Given the description of an element on the screen output the (x, y) to click on. 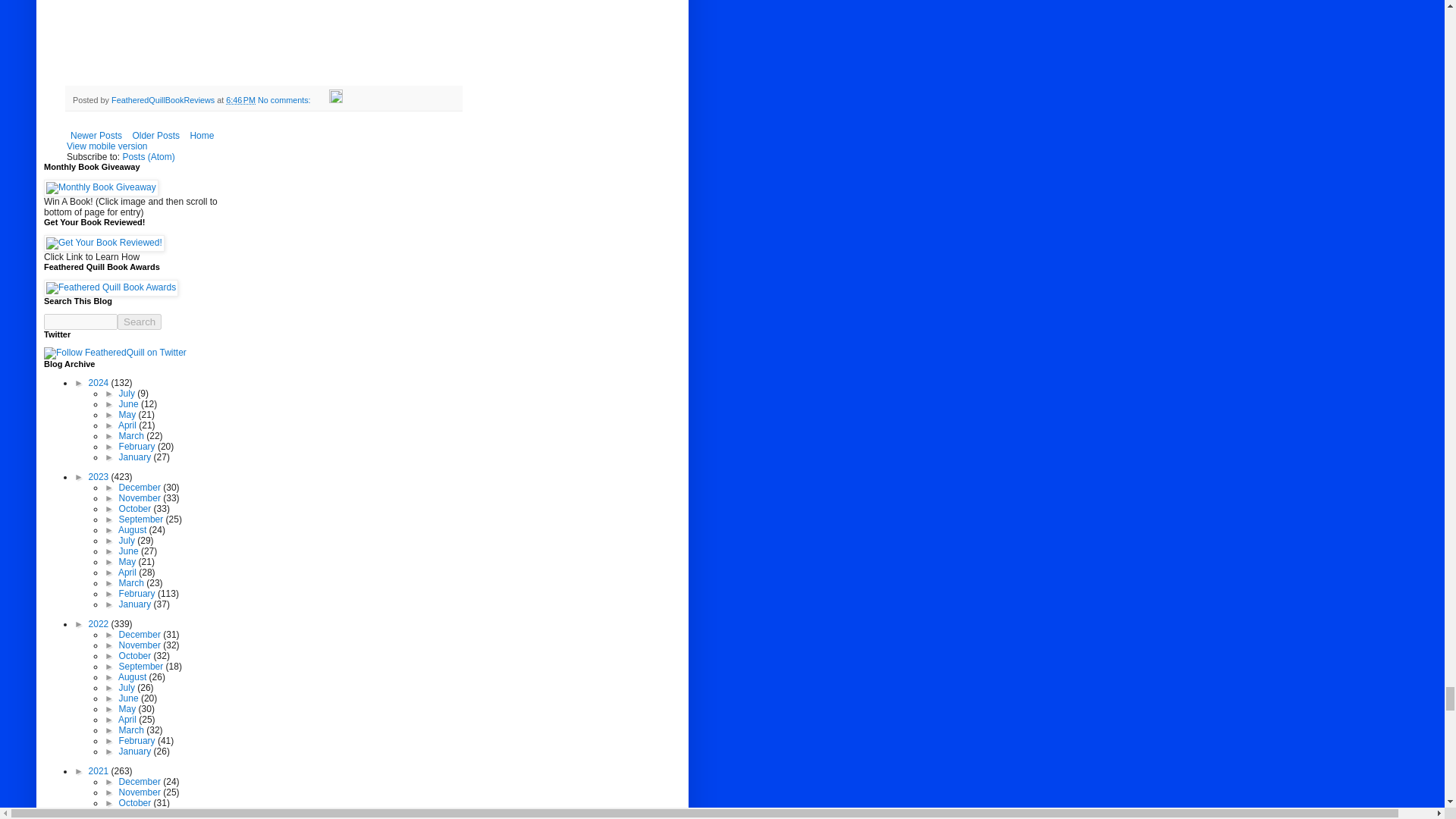
Search (139, 321)
Search (139, 321)
